Given the description of an element on the screen output the (x, y) to click on. 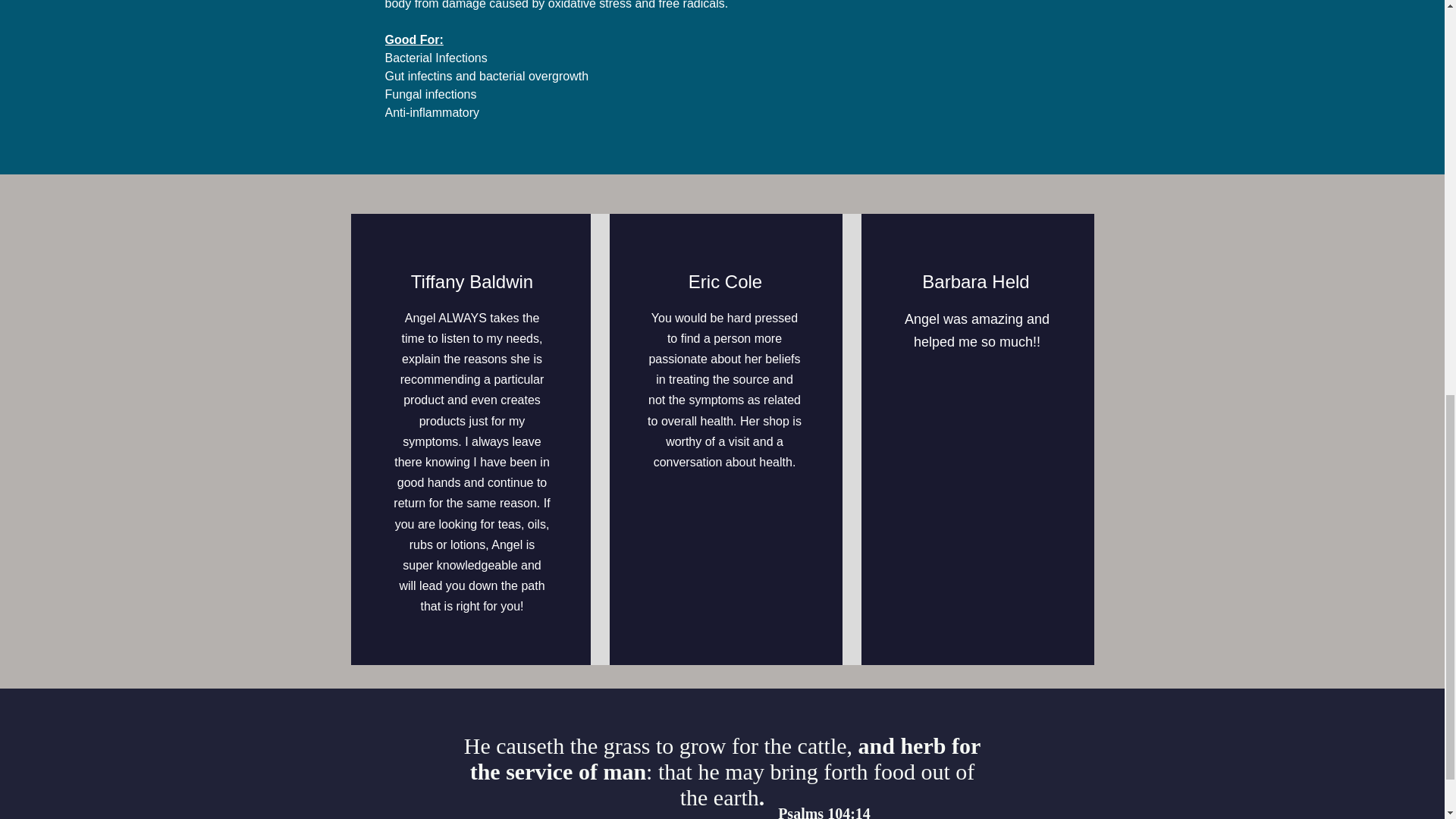
Psalms 104:14 (823, 812)
